Given the description of an element on the screen output the (x, y) to click on. 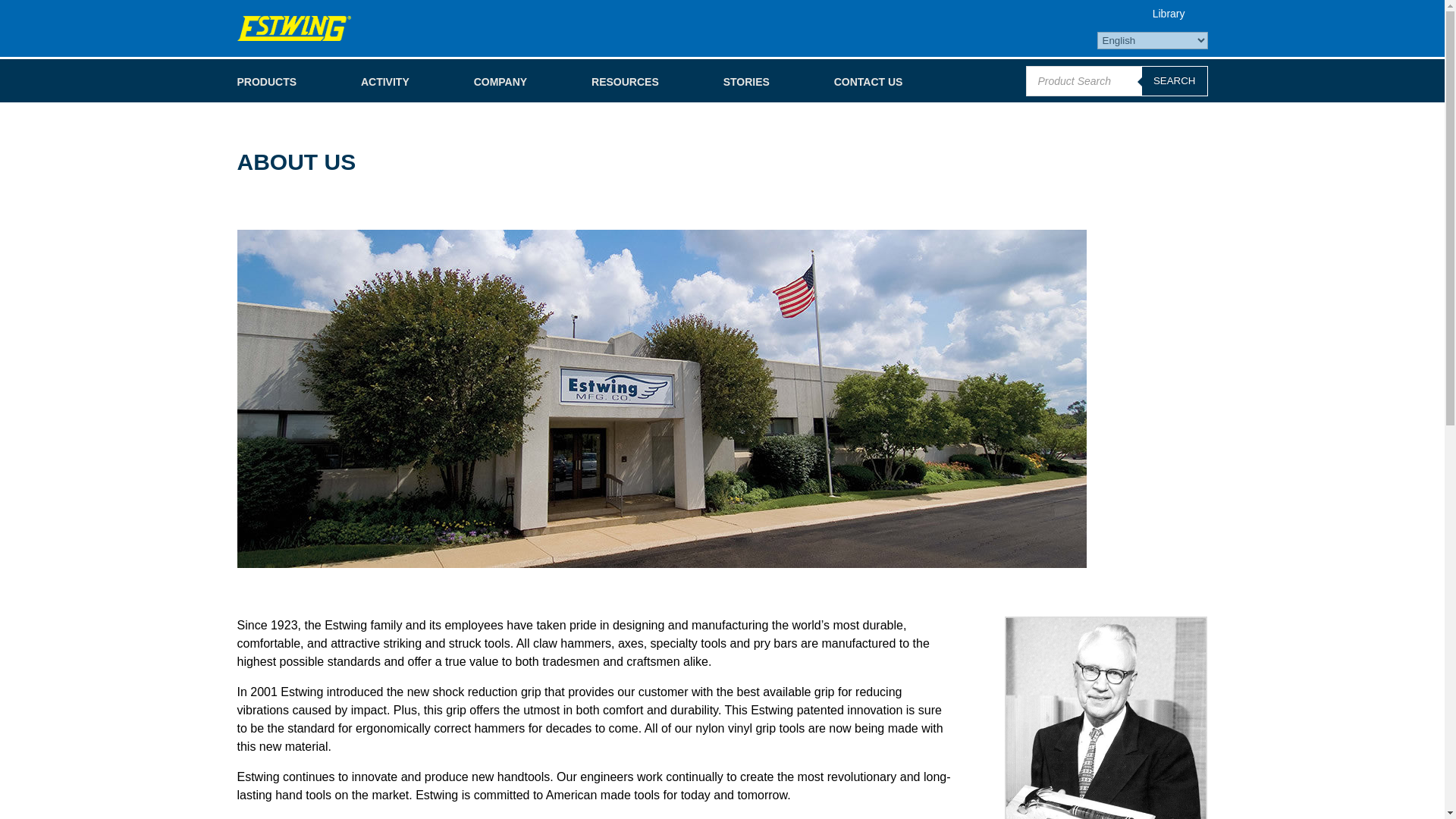
COMPANY (500, 83)
Estwing-Nav-Logo (292, 27)
ernest-estwing (1105, 717)
STORIES (746, 83)
Library (1169, 13)
PRODUCTS (266, 83)
CONTACT US (868, 83)
RESOURCES (625, 83)
ACTIVITY (385, 83)
